Given the description of an element on the screen output the (x, y) to click on. 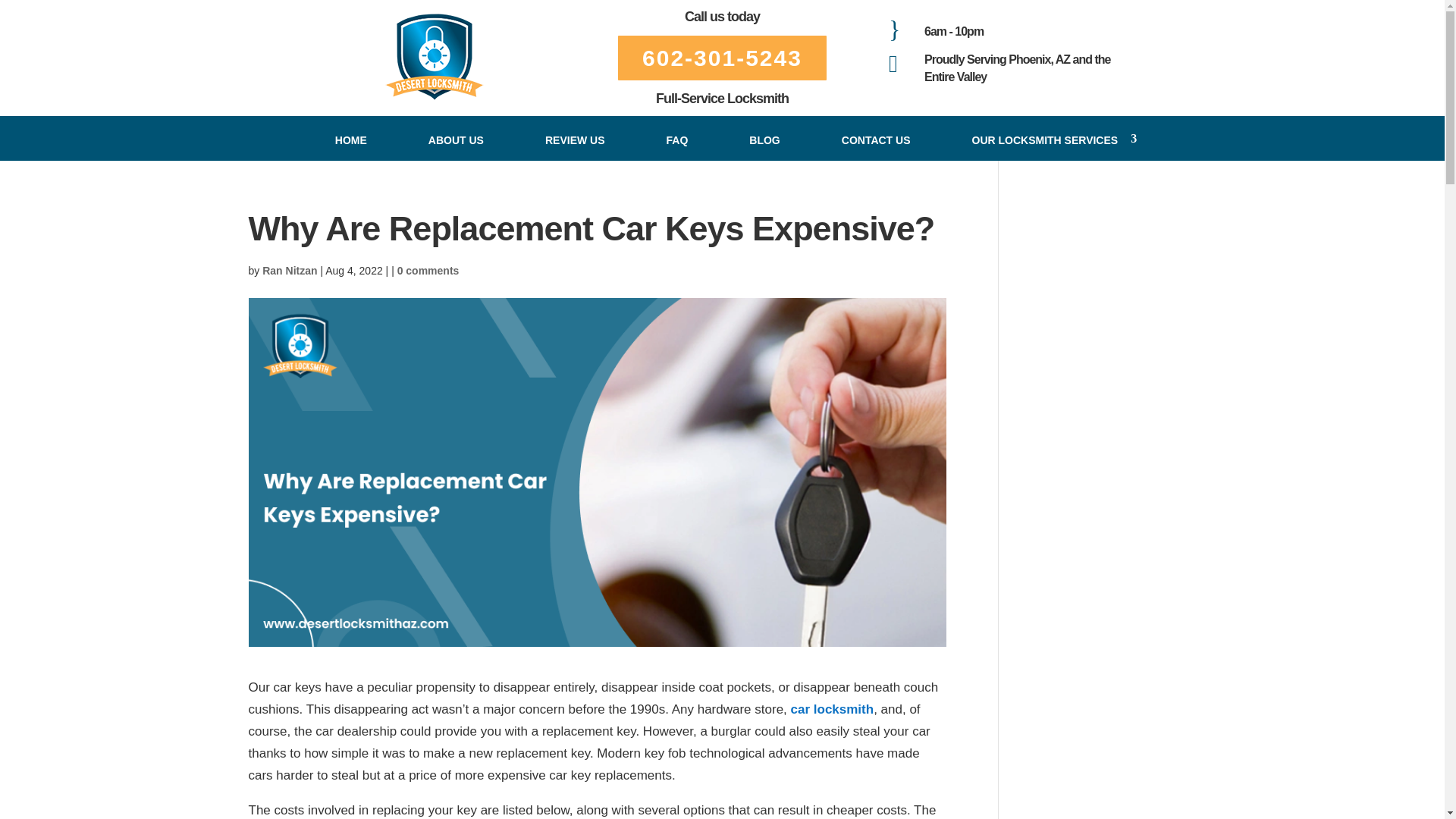
CONTACT US (876, 139)
OUR LOCKSMITH SERVICES (1044, 139)
FAQ (677, 139)
602-301-5243 (721, 57)
Posts by Ran Nitzan (289, 270)
REVIEW US (574, 139)
HOME (350, 139)
BLOG (764, 139)
ABOUT US (456, 139)
